Given the description of an element on the screen output the (x, y) to click on. 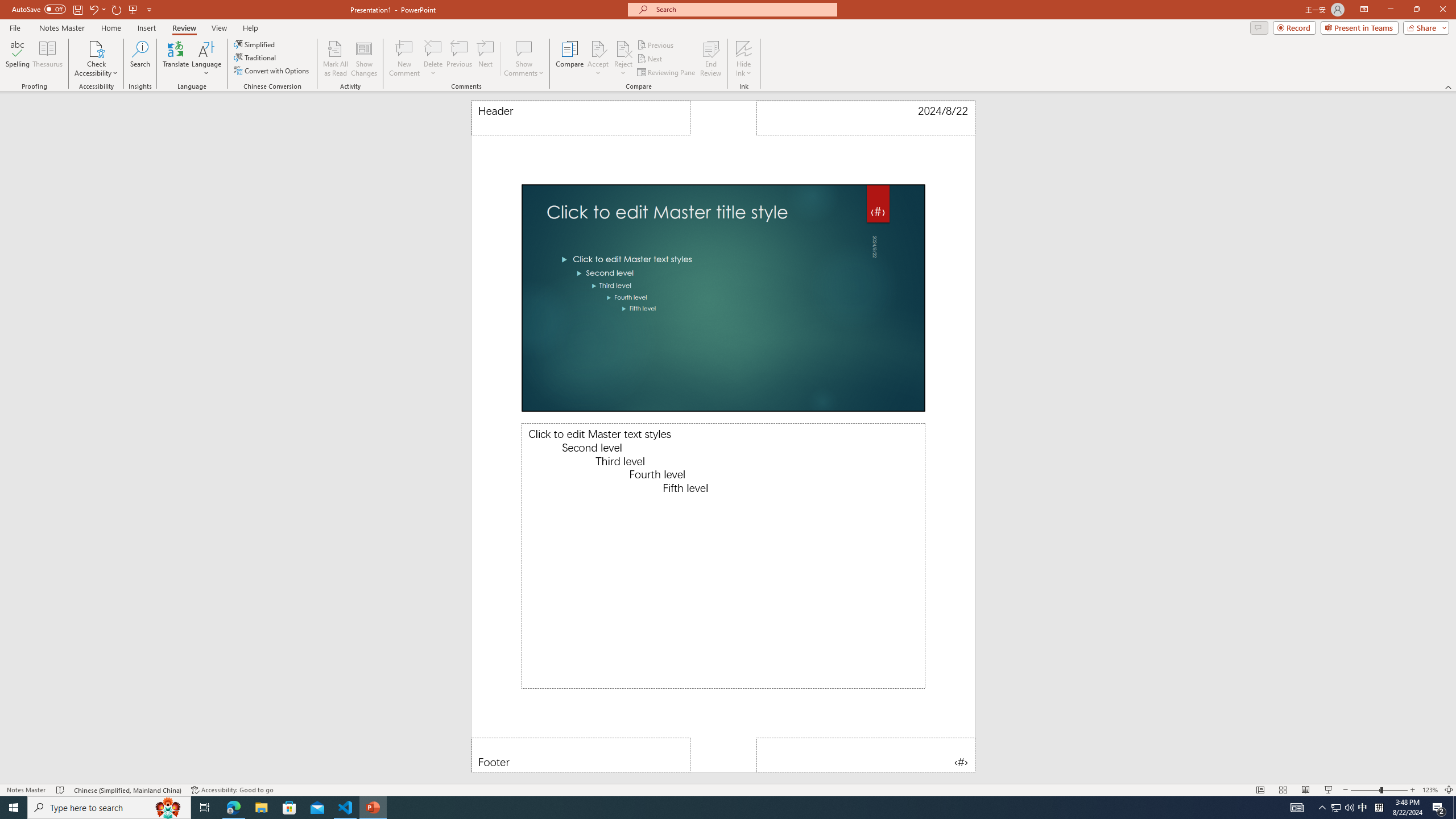
Reject (622, 58)
